Given the description of an element on the screen output the (x, y) to click on. 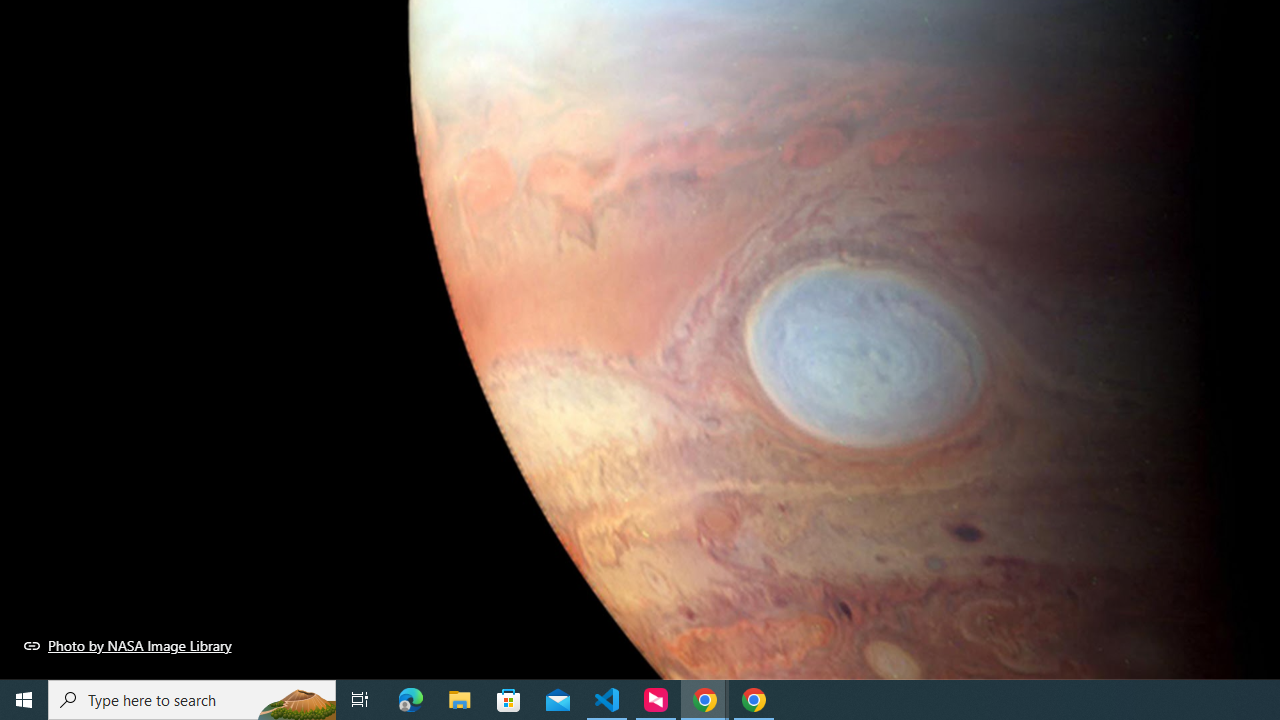
Photo by NASA Image Library (127, 645)
